Given the description of an element on the screen output the (x, y) to click on. 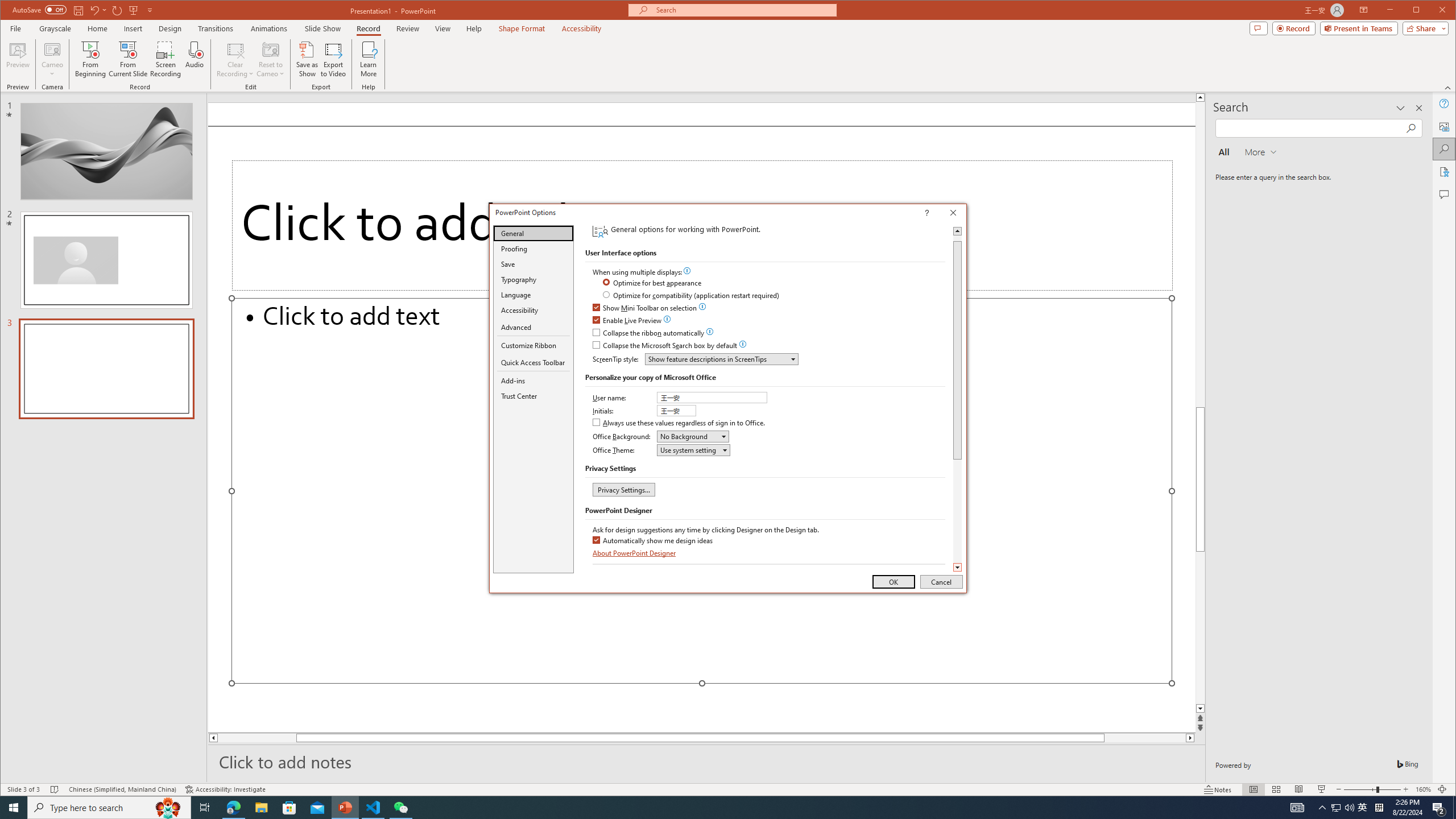
General (533, 233)
From Current Slide... (127, 59)
Collapse the Microsoft Search box by default (665, 345)
Office Theme (693, 449)
About PowerPoint Designer (635, 552)
Add-ins (533, 380)
WeChat - 1 running window (400, 807)
Clear Recording (234, 59)
